Given the description of an element on the screen output the (x, y) to click on. 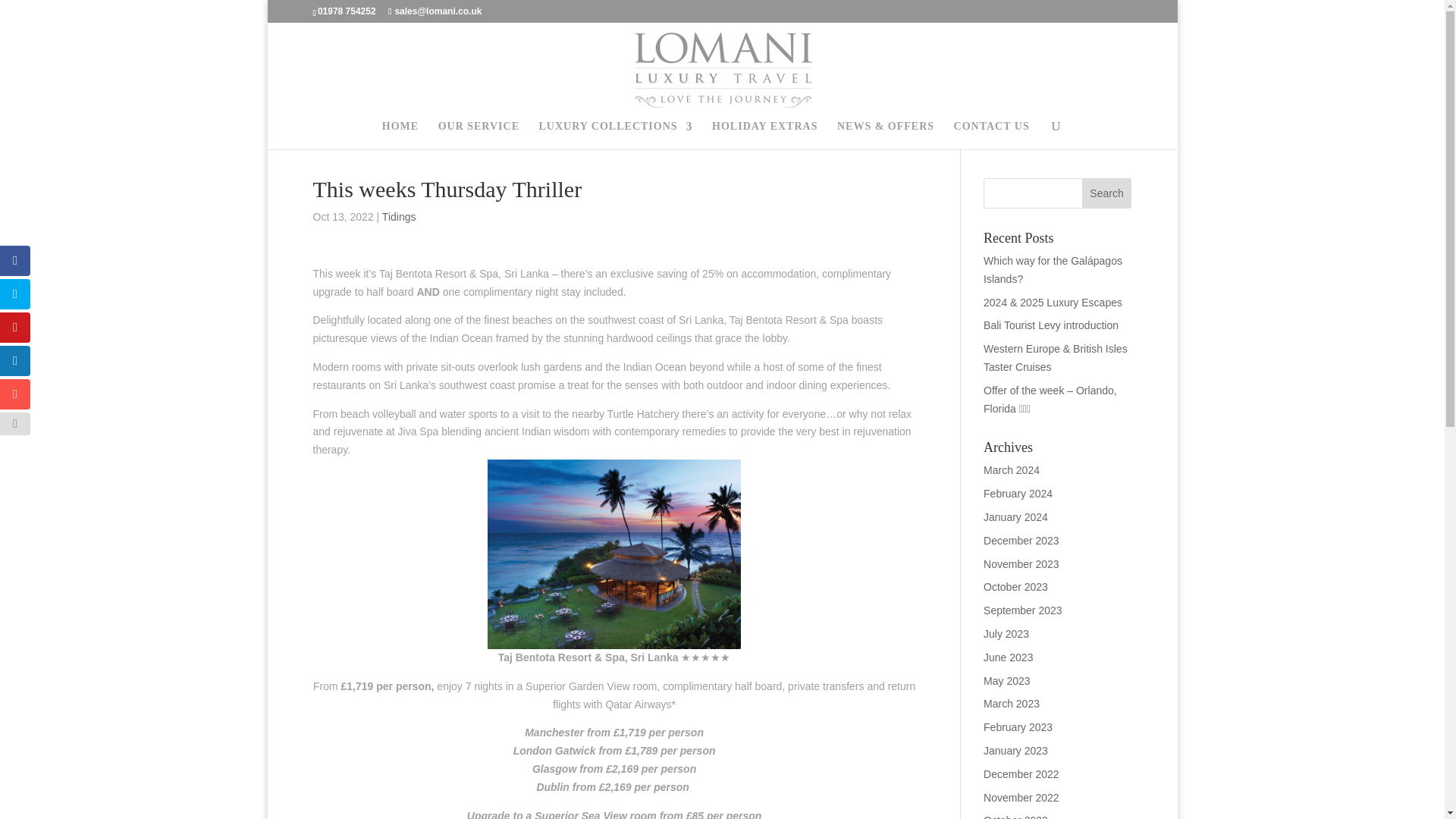
HOME (400, 135)
November 2022 (1021, 797)
March 2024 (1011, 469)
October 2023 (1016, 586)
March 2023 (1011, 703)
December 2023 (1021, 540)
May 2023 (1006, 680)
February 2023 (1018, 727)
Search (1106, 193)
June 2023 (1008, 657)
